Given the description of an element on the screen output the (x, y) to click on. 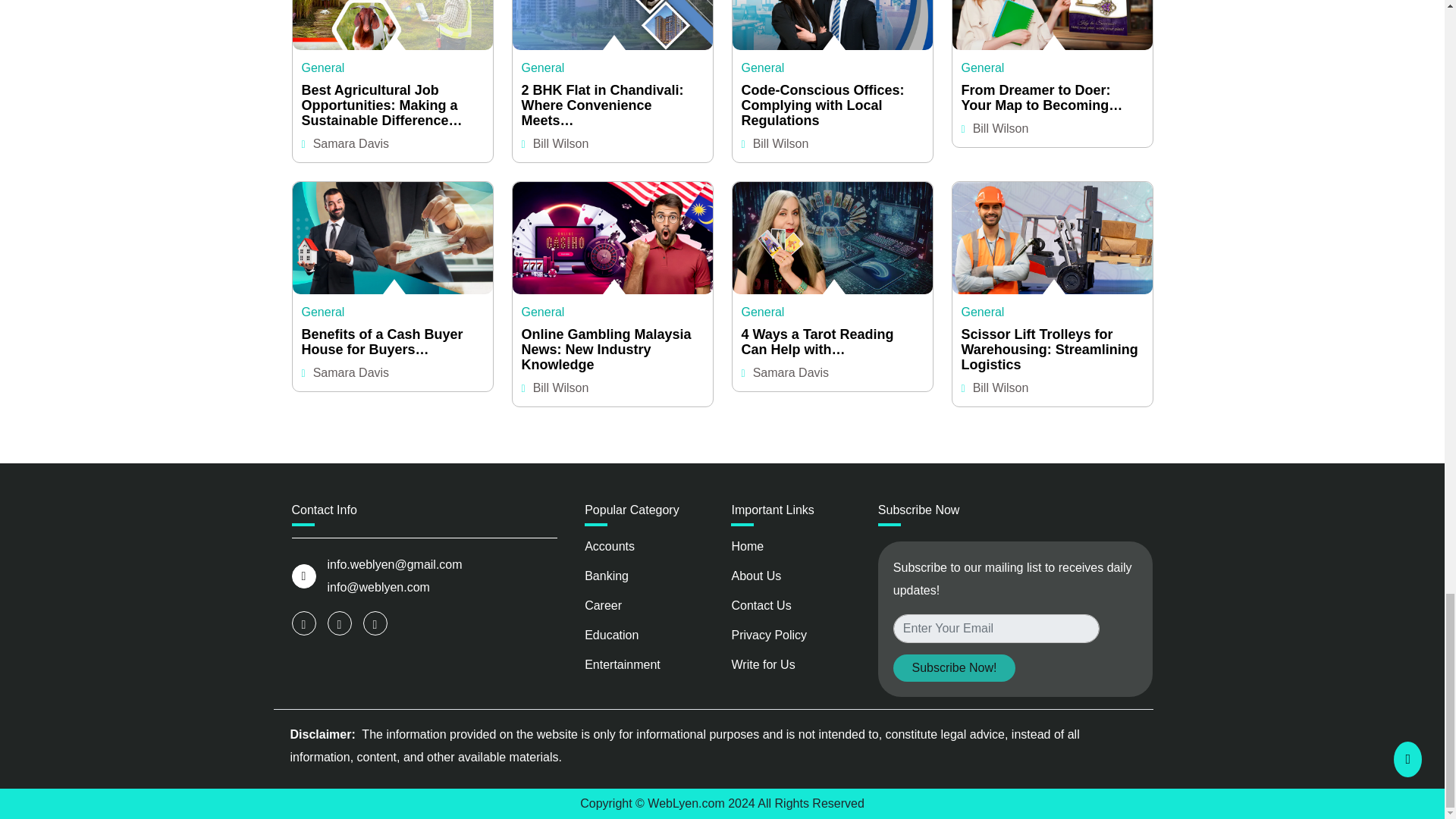
Subscribe Now! (953, 667)
